Given the description of an element on the screen output the (x, y) to click on. 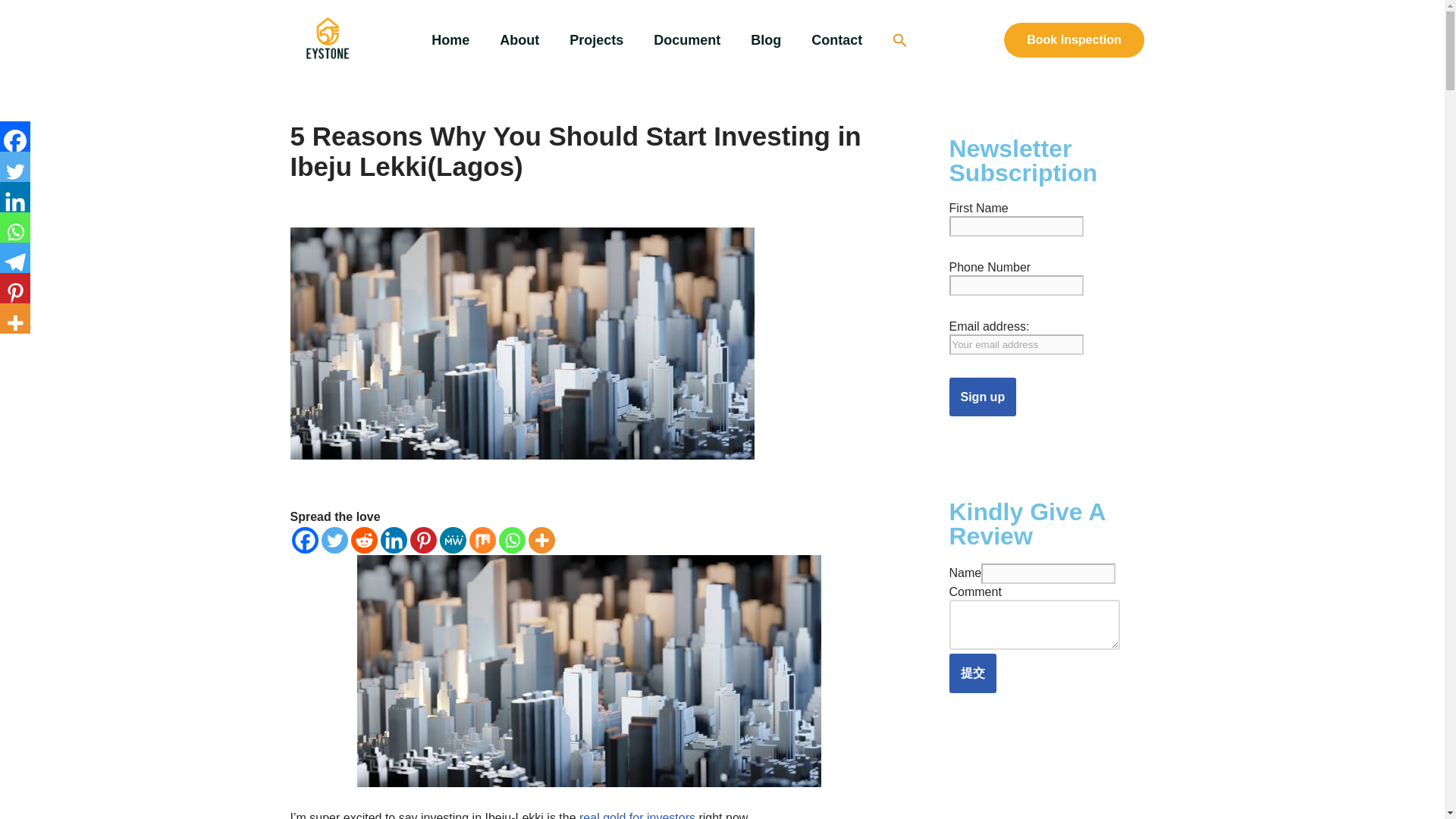
Whatsapp (512, 540)
Contact (836, 39)
Projects (596, 39)
About (519, 39)
MeWe (452, 540)
Document (687, 39)
Facebook (304, 540)
Reddit (363, 540)
More (540, 540)
Twitter (15, 166)
